Given the description of an element on the screen output the (x, y) to click on. 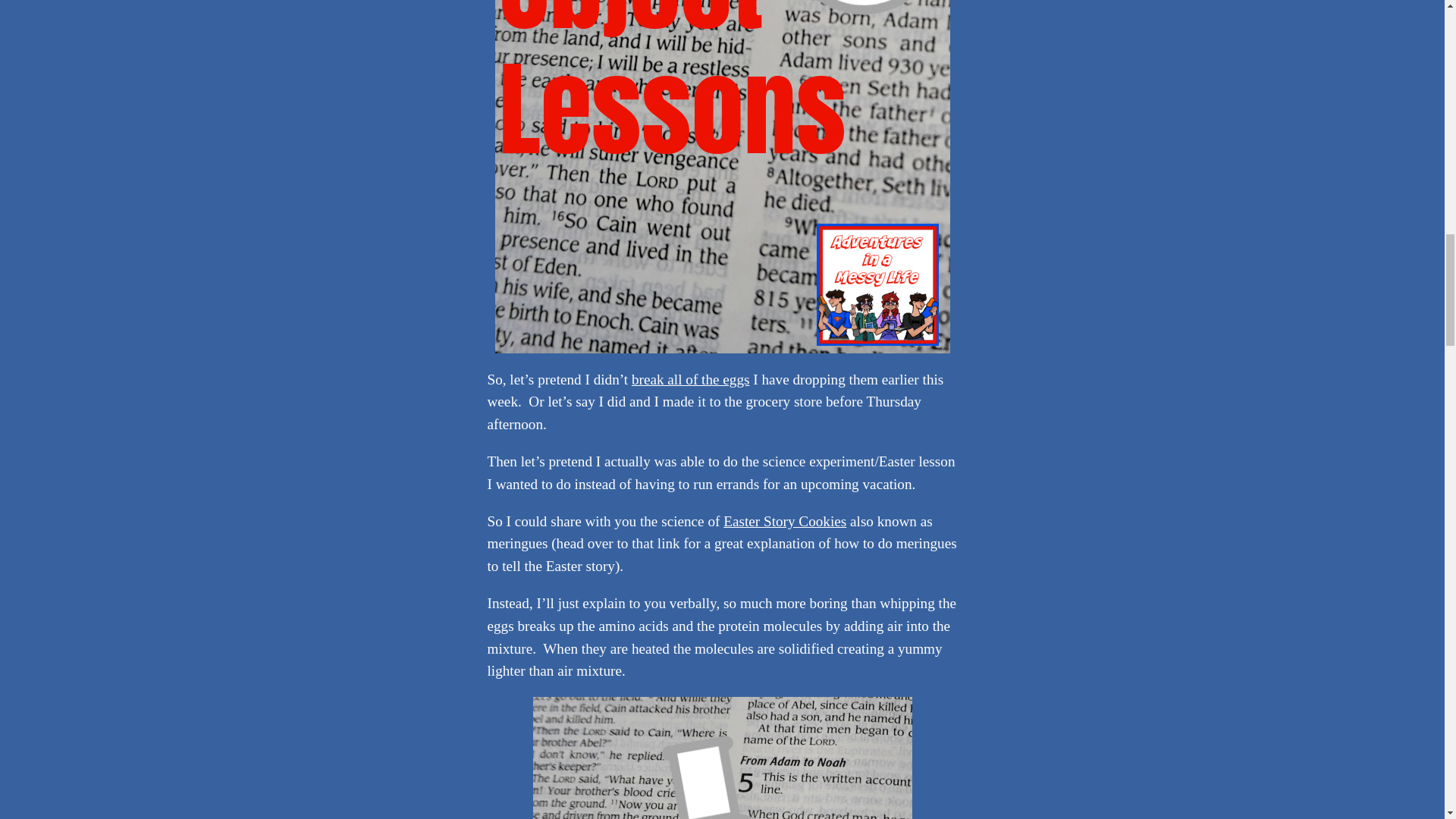
break all of the eggs (690, 379)
Easter Story Cookies (784, 521)
